Given the description of an element on the screen output the (x, y) to click on. 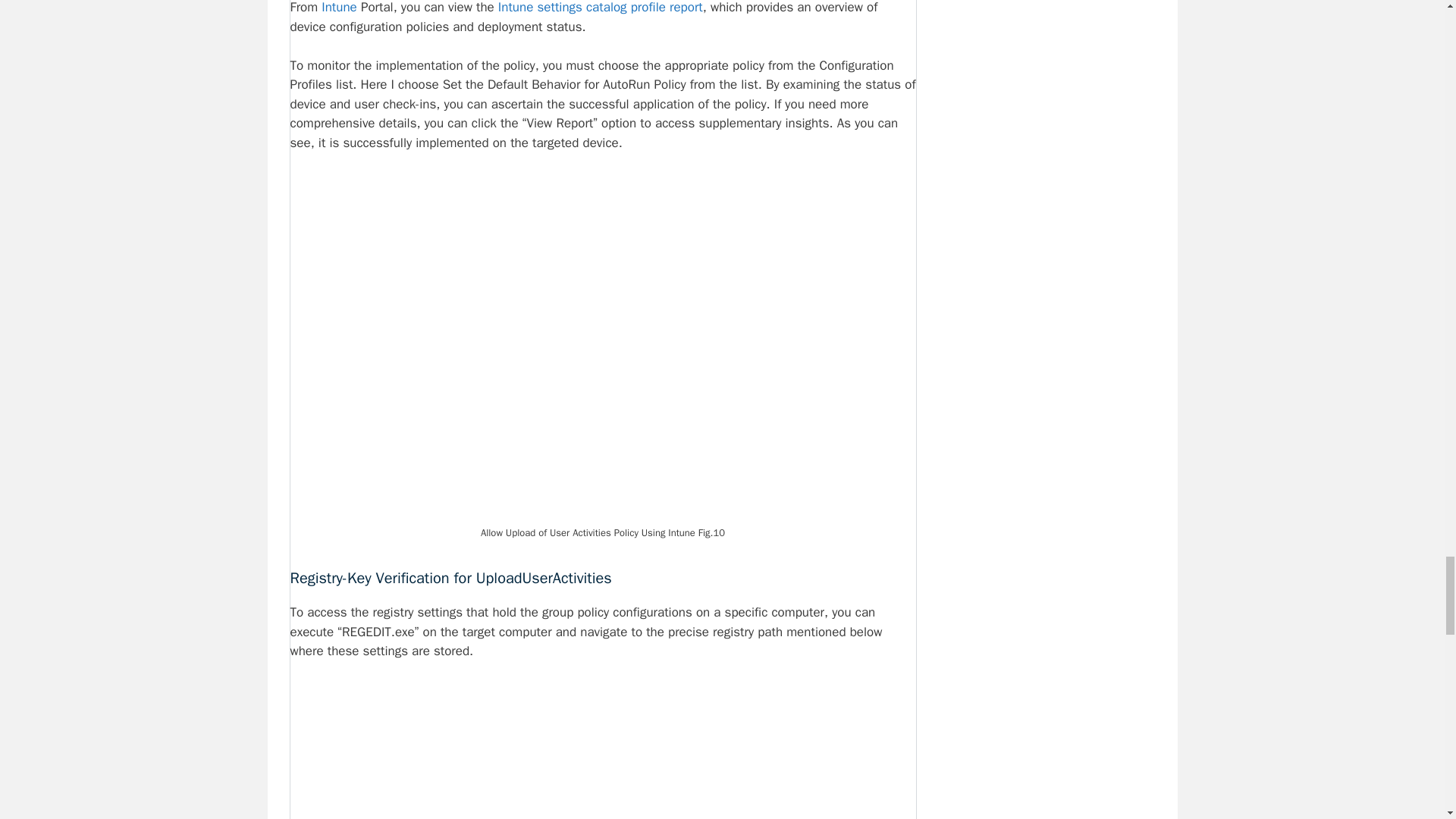
Intune (338, 7)
Intune settings catalog profile report (600, 7)
